Given the description of an element on the screen output the (x, y) to click on. 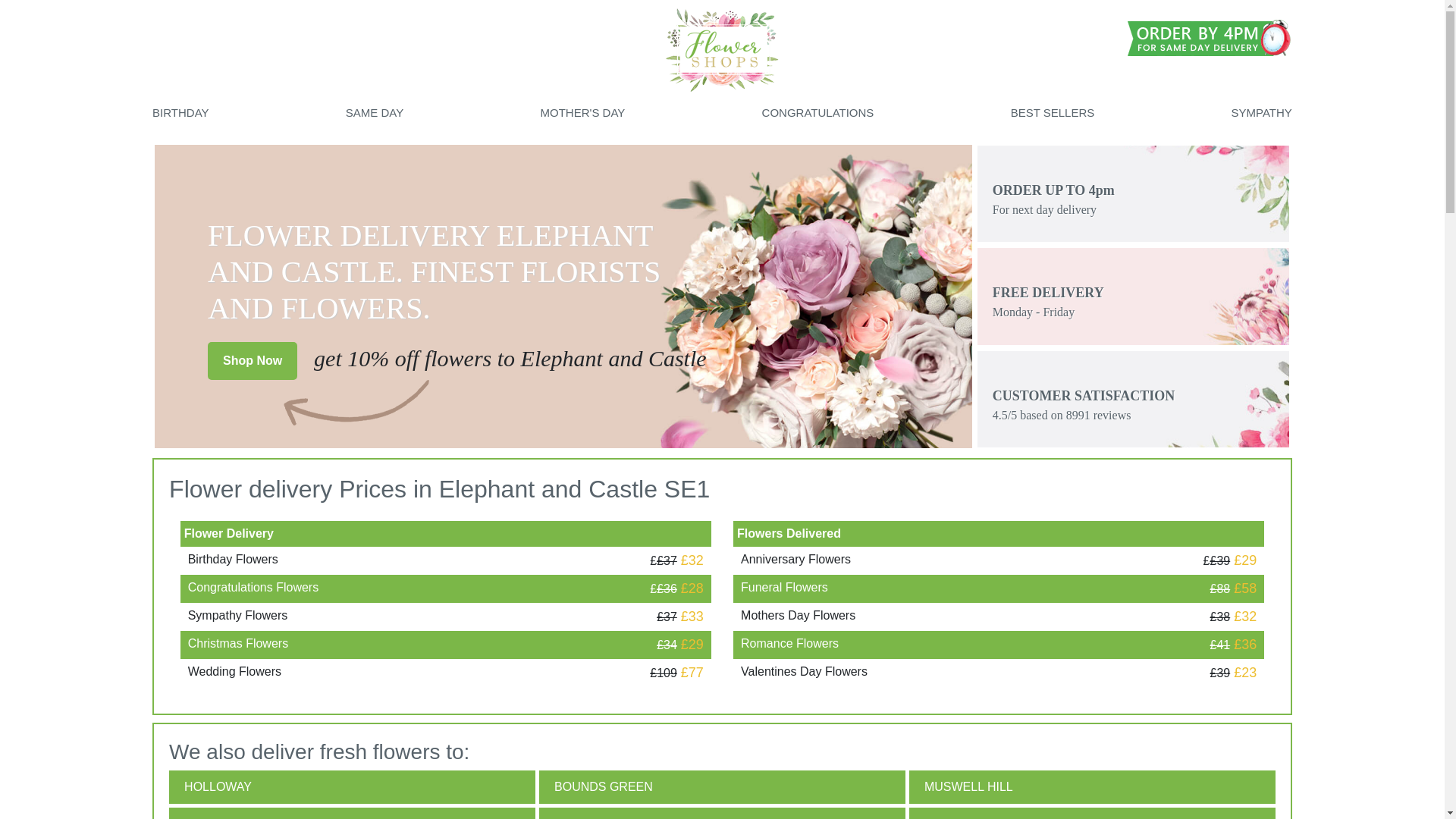
SYMPATHY (1261, 112)
DOLLIS HILL (351, 813)
SAME DAY (374, 112)
BIRTHDAY (180, 112)
MOTHER'S DAY (583, 112)
HOLLOWAY (351, 786)
CONGRATULATIONS (818, 112)
BEST SELLERS (1052, 112)
NEW CROSS GATE (1091, 813)
Shop Now (240, 359)
MUSWELL HILL (1091, 786)
Shop Now (252, 361)
BOUNDS GREEN (721, 786)
NORWOOD (721, 813)
